Given the description of an element on the screen output the (x, y) to click on. 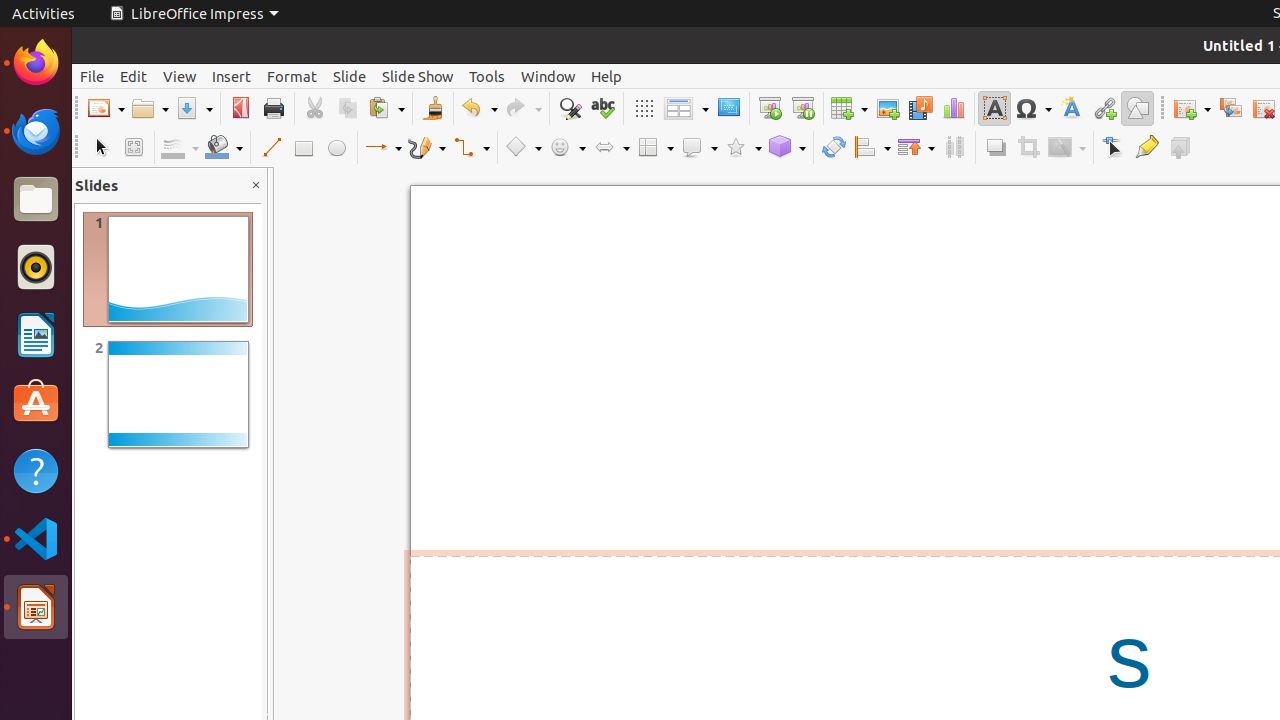
Master Slide Element type: push-button (728, 108)
Callout Shapes Element type: push-button (699, 147)
File Element type: menu (92, 76)
Delete Slide Element type: push-button (1263, 108)
